Given the description of an element on the screen output the (x, y) to click on. 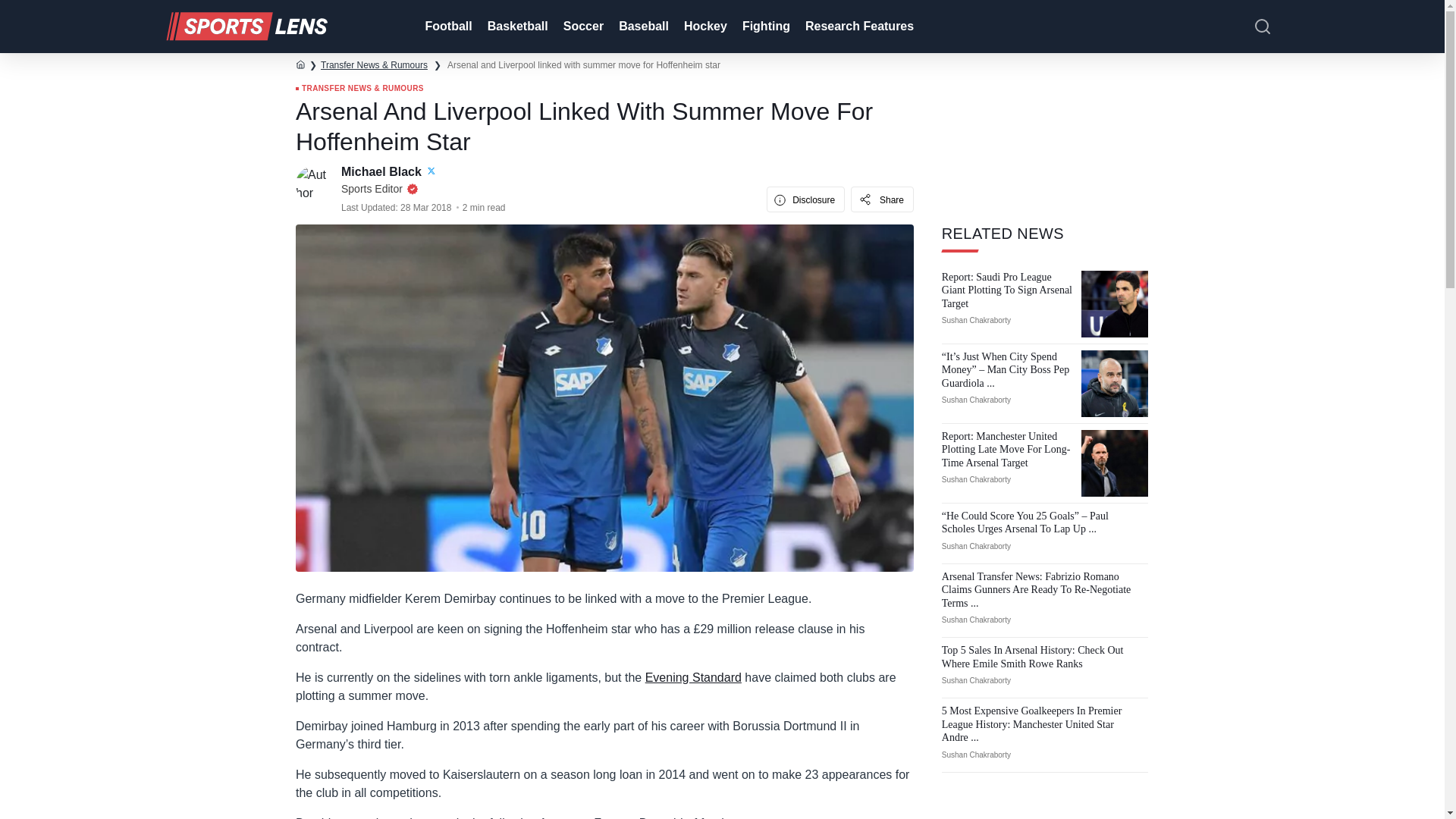
Baseball (642, 26)
Research Features (858, 26)
Share (882, 199)
Football (445, 26)
Basketball (516, 26)
Fighting (764, 26)
Soccer (582, 26)
Hockey (704, 26)
Sushan Chakraborty (976, 320)
